Given the description of an element on the screen output the (x, y) to click on. 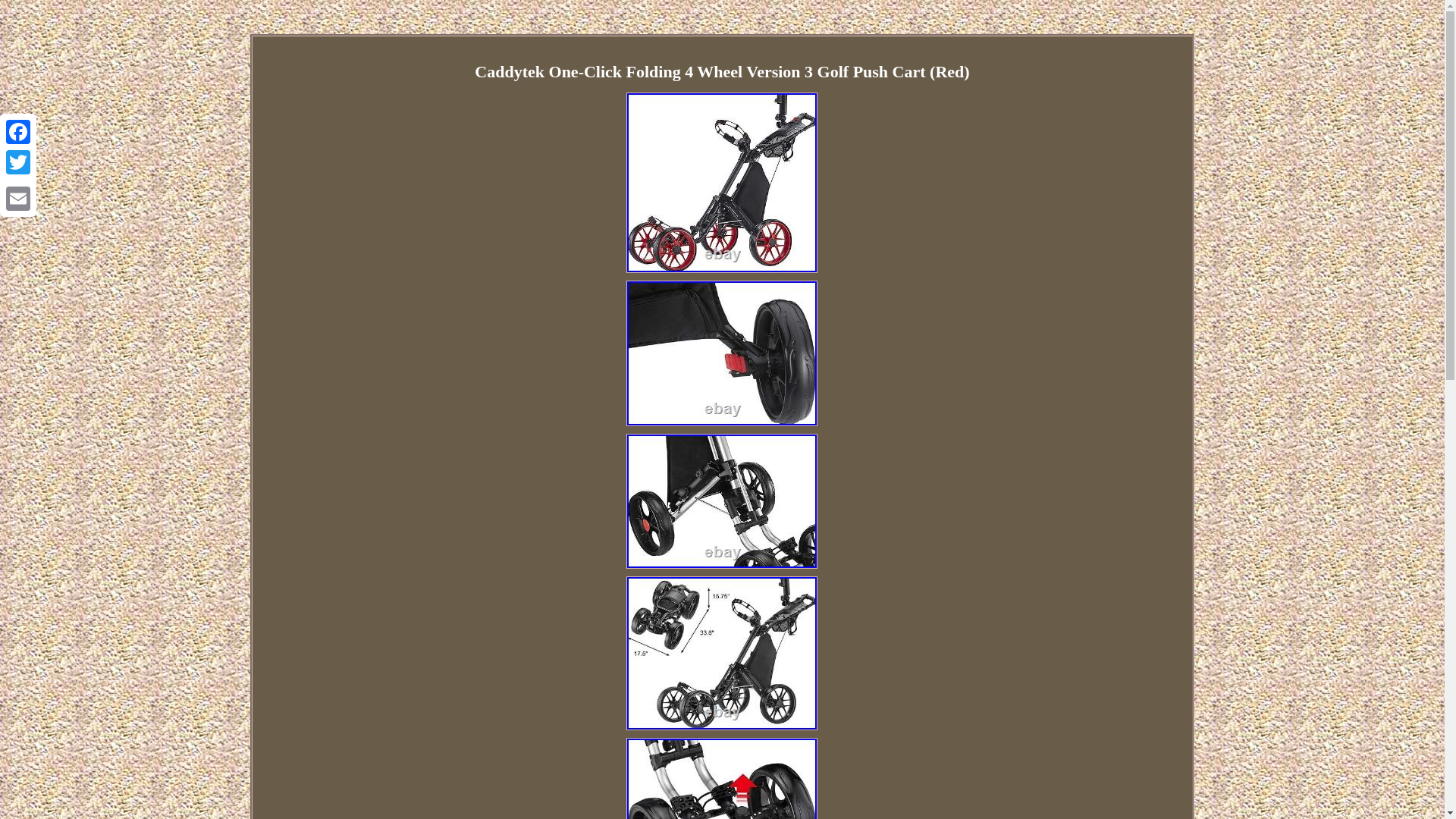
Email (17, 198)
Facebook (17, 132)
Twitter (17, 162)
